Given the description of an element on the screen output the (x, y) to click on. 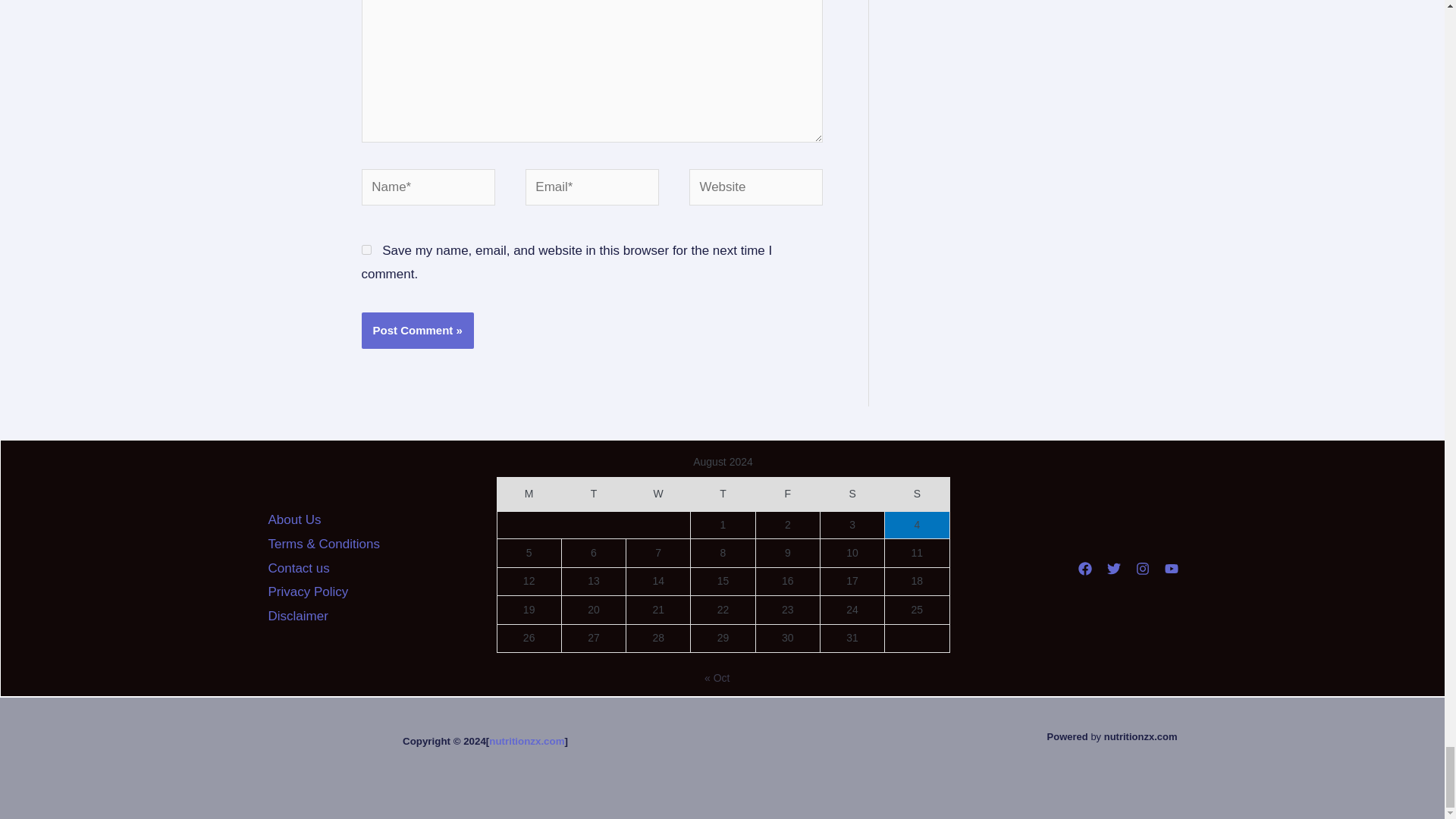
Monday (528, 494)
Wednesday (658, 494)
yes (366, 249)
Sunday (917, 494)
Thursday (722, 494)
Saturday (851, 494)
Friday (787, 494)
Tuesday (593, 494)
